Given the description of an element on the screen output the (x, y) to click on. 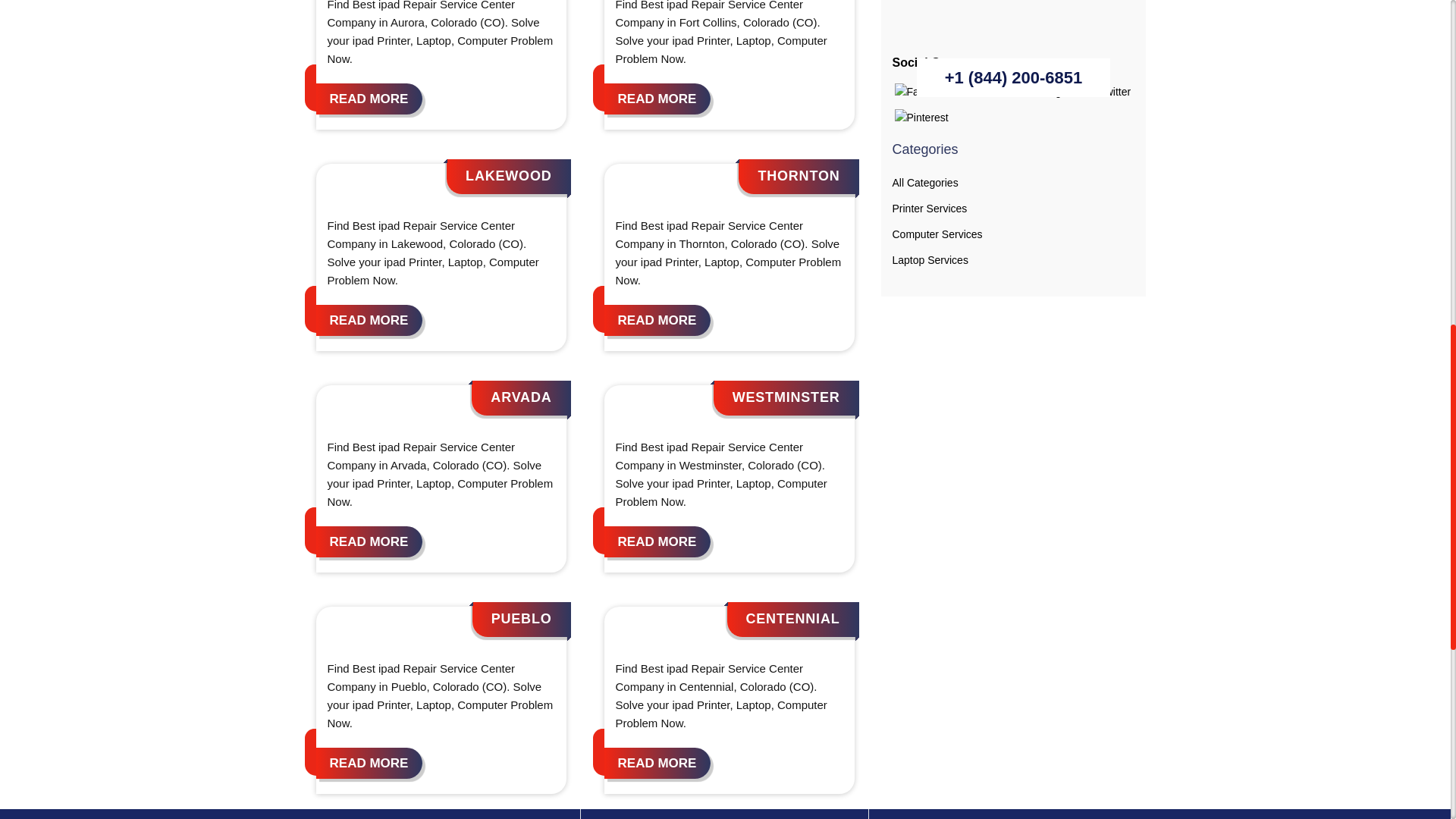
ARVADA (520, 396)
READ MORE (368, 541)
READ MORE (368, 319)
CENTENNIAL (792, 618)
READ MORE (657, 762)
PUEBLO (521, 618)
READ MORE (368, 762)
WESTMINSTER (786, 396)
LAKEWOOD (508, 175)
THORNTON (798, 175)
READ MORE (657, 98)
READ MORE (368, 98)
READ MORE (657, 541)
READ MORE (657, 319)
